Given the description of an element on the screen output the (x, y) to click on. 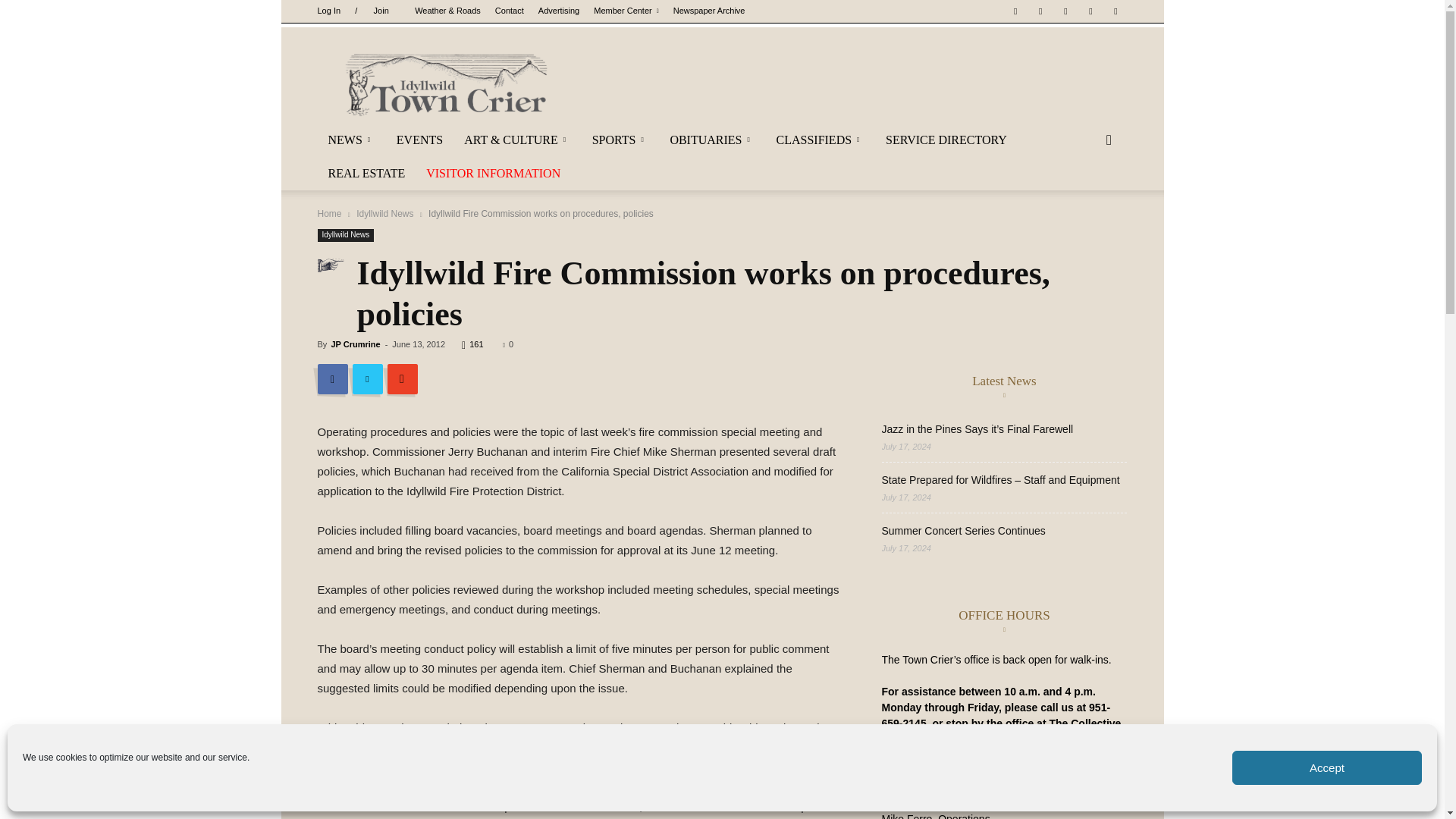
Linkedin (1065, 10)
Accept (1326, 767)
Facebook (1015, 10)
Youtube (1114, 10)
Twitter (1090, 10)
